Given the description of an element on the screen output the (x, y) to click on. 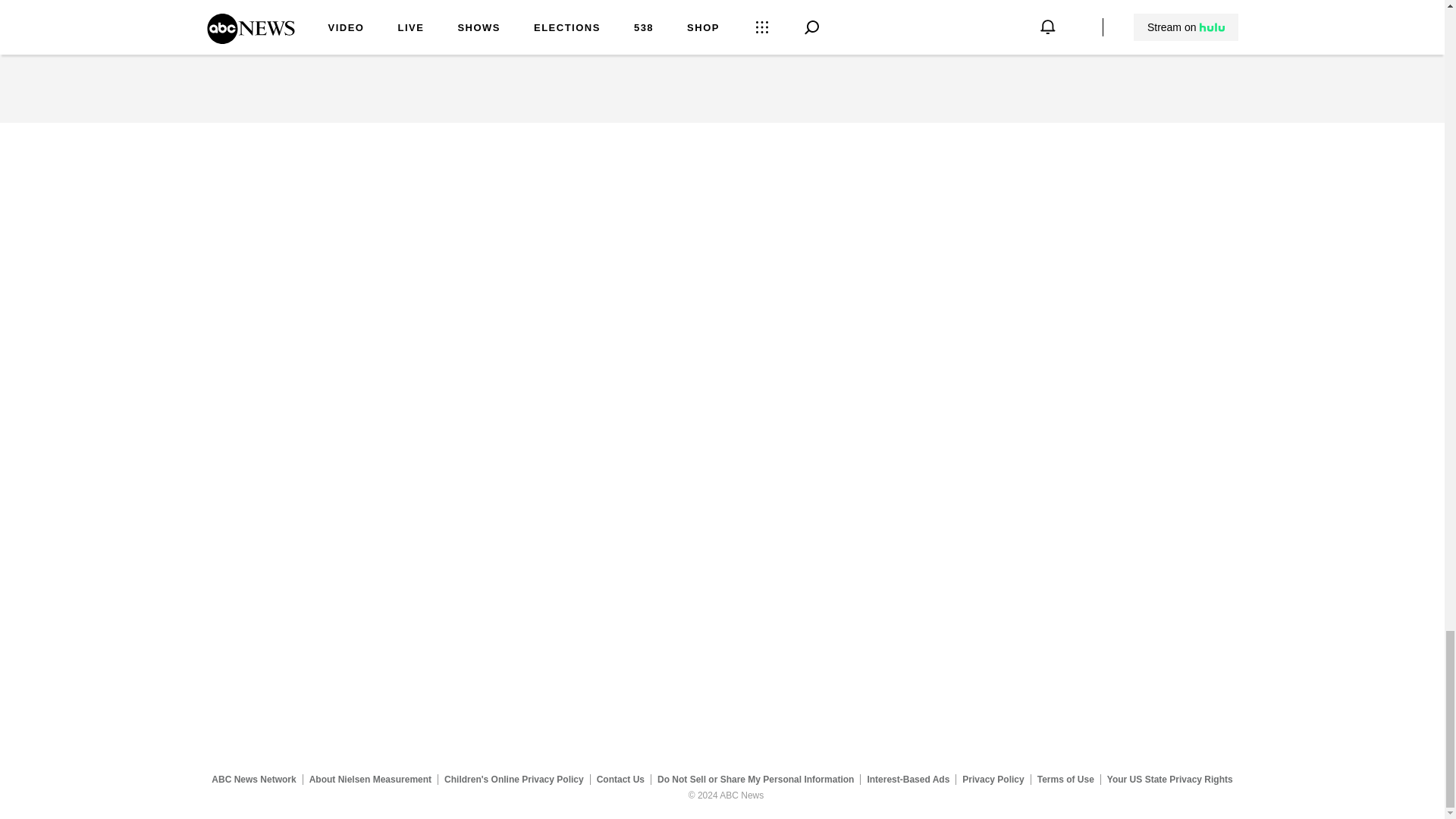
About Nielsen Measurement (370, 778)
Do Not Sell or Share My Personal Information (755, 778)
ABC News Network (253, 778)
Privacy Policy (993, 778)
Interest-Based Ads (908, 778)
Your US State Privacy Rights (1169, 778)
Contact Us (620, 778)
Terms of Use (1065, 778)
Children's Online Privacy Policy (514, 778)
